Given the description of an element on the screen output the (x, y) to click on. 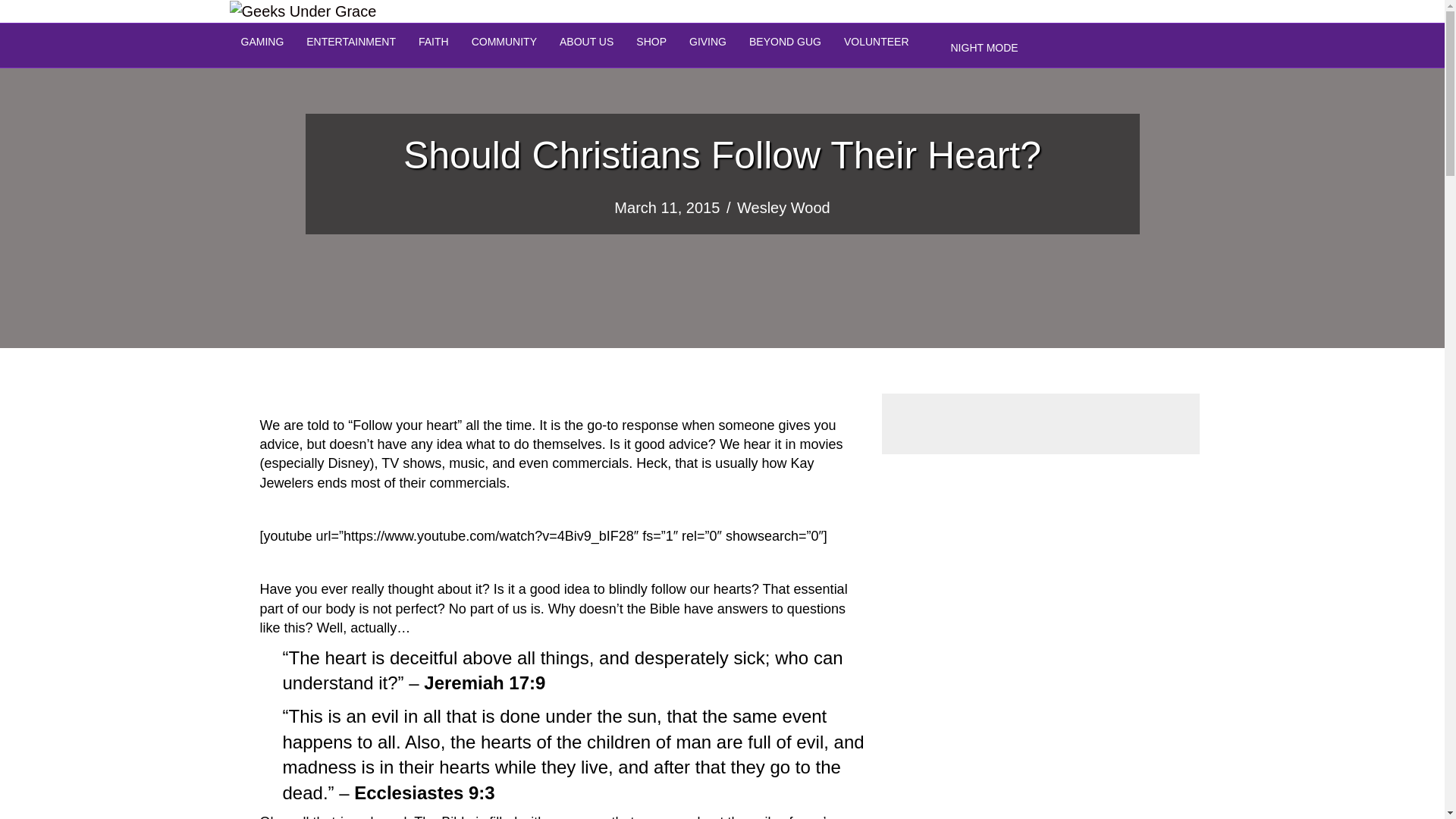
Wesley Wood (782, 207)
FAITH (433, 42)
VOLUNTEER (876, 42)
BEYOND GUG (785, 42)
ENTERTAINMENT (351, 42)
GIVING (708, 42)
COMMUNITY (504, 42)
GAMING (261, 42)
NIGHT MODE (984, 48)
SHOP (651, 42)
